Given the description of an element on the screen output the (x, y) to click on. 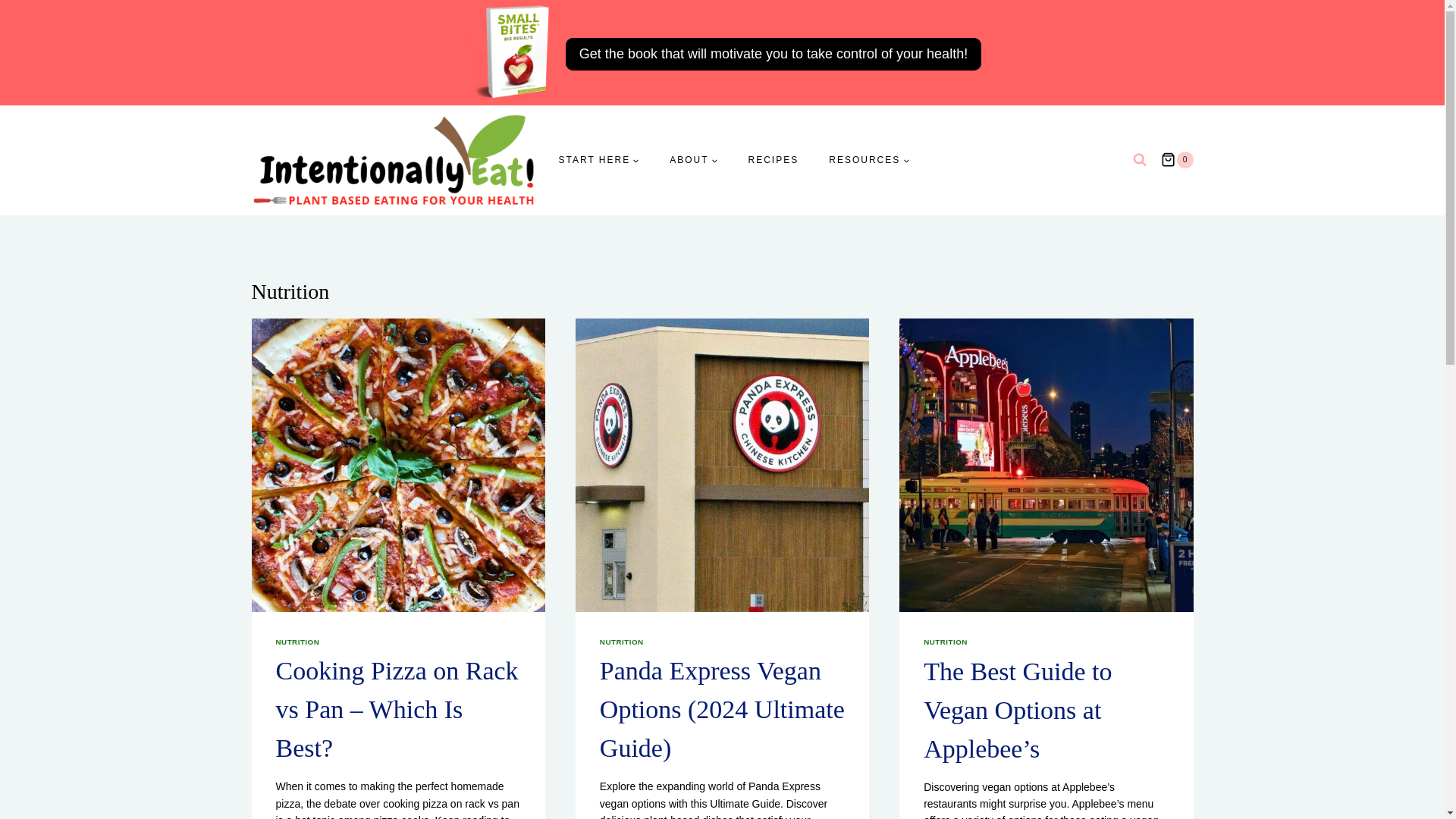
NUTRITION (945, 642)
NUTRITION (298, 642)
0 (1176, 159)
ABOUT (692, 160)
START HERE (598, 160)
RESOURCES (868, 160)
RECIPES (773, 160)
NUTRITION (621, 642)
